Given the description of an element on the screen output the (x, y) to click on. 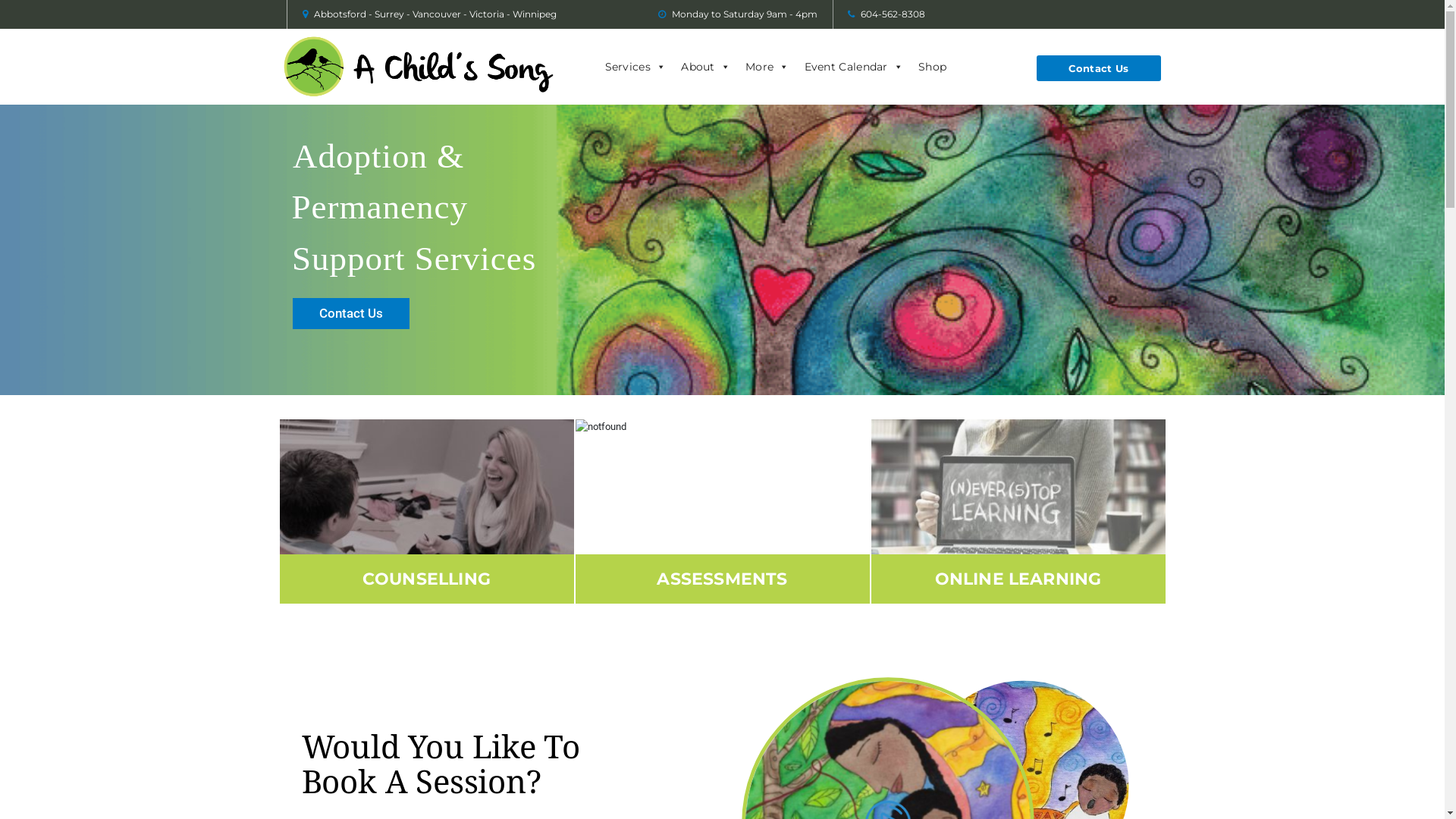
Shop Element type: text (931, 66)
Contact Us Element type: text (1097, 68)
Event Calendar Element type: text (854, 66)
A Child's Song Element type: hover (419, 66)
About Element type: text (705, 66)
Services Element type: text (635, 66)
More Element type: text (767, 66)
